Given the description of an element on the screen output the (x, y) to click on. 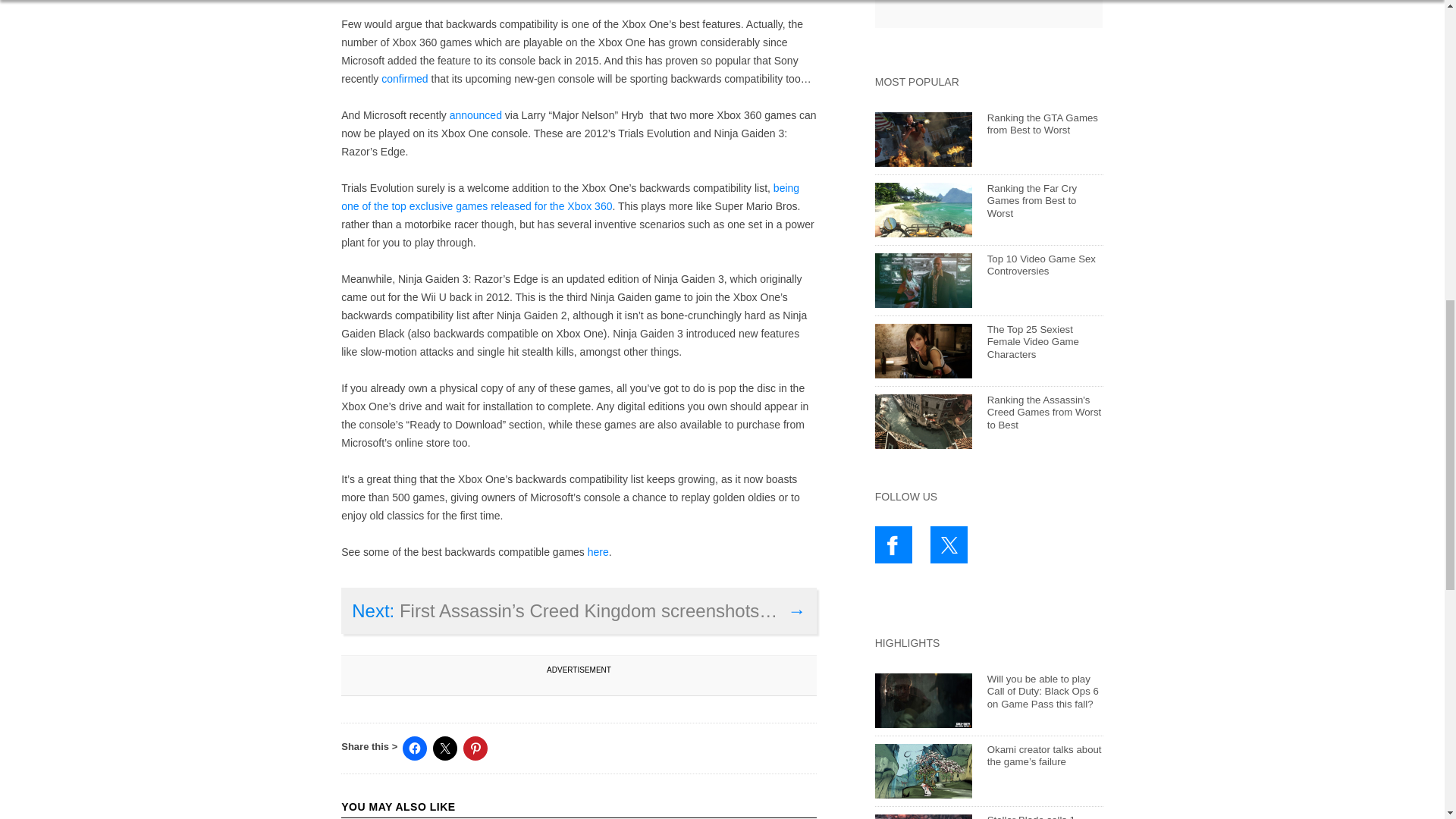
confirmed (404, 78)
announced (475, 114)
Click to share on Facebook (414, 748)
Click to share on Pinterest (475, 748)
Click to share on X (444, 748)
here (598, 551)
